Given the description of an element on the screen output the (x, y) to click on. 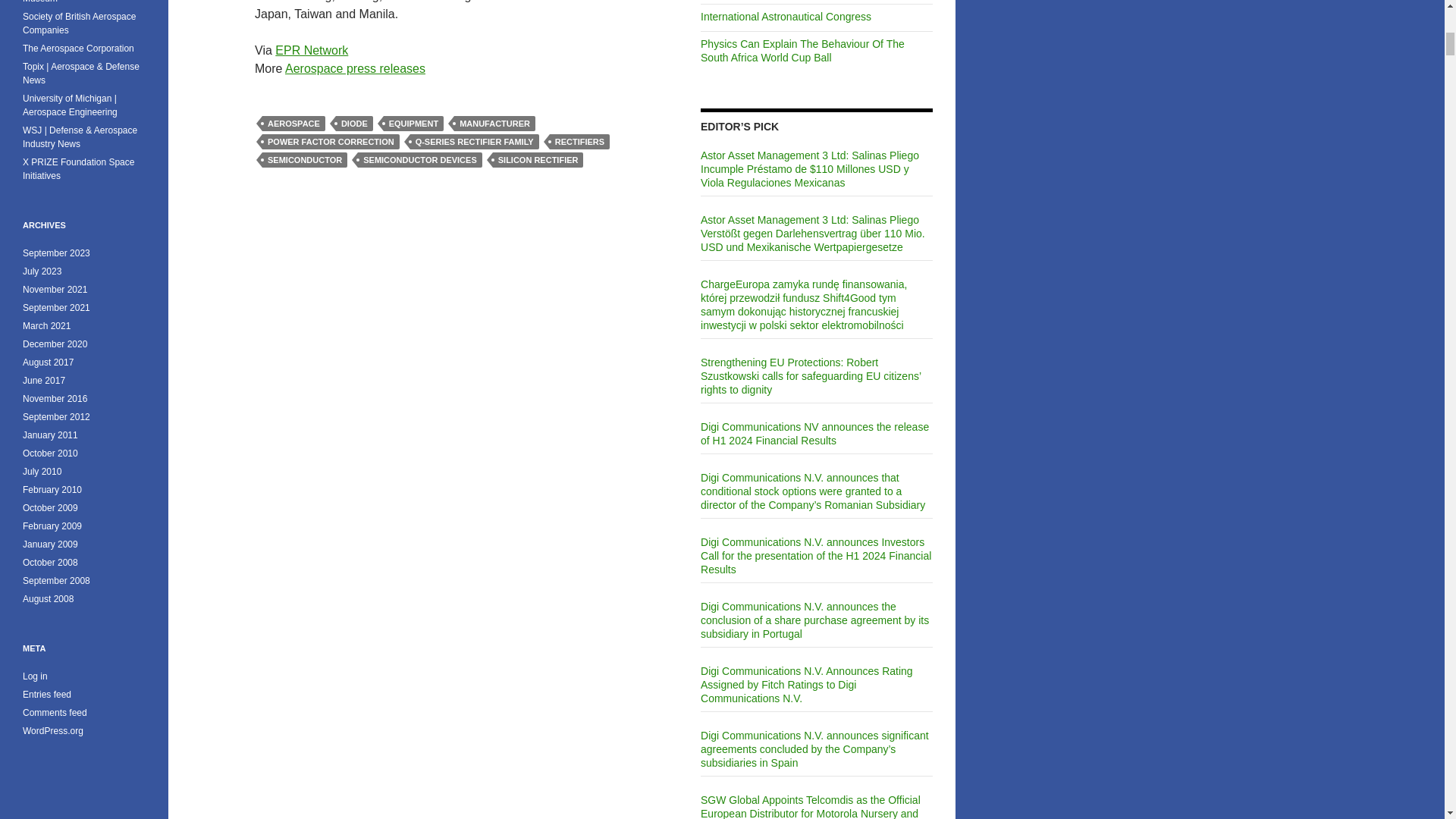
MANUFACTURER (494, 123)
RECTIFIERS (580, 141)
AEROSPACE (293, 123)
Aerospace press releases (355, 68)
POWER FACTOR CORRECTION (330, 141)
SEMICONDUCTOR (304, 159)
SILICON RECTIFIER (538, 159)
DIODE (354, 123)
SEMICONDUCTOR DEVICES (419, 159)
EPR Network (311, 50)
